Given the description of an element on the screen output the (x, y) to click on. 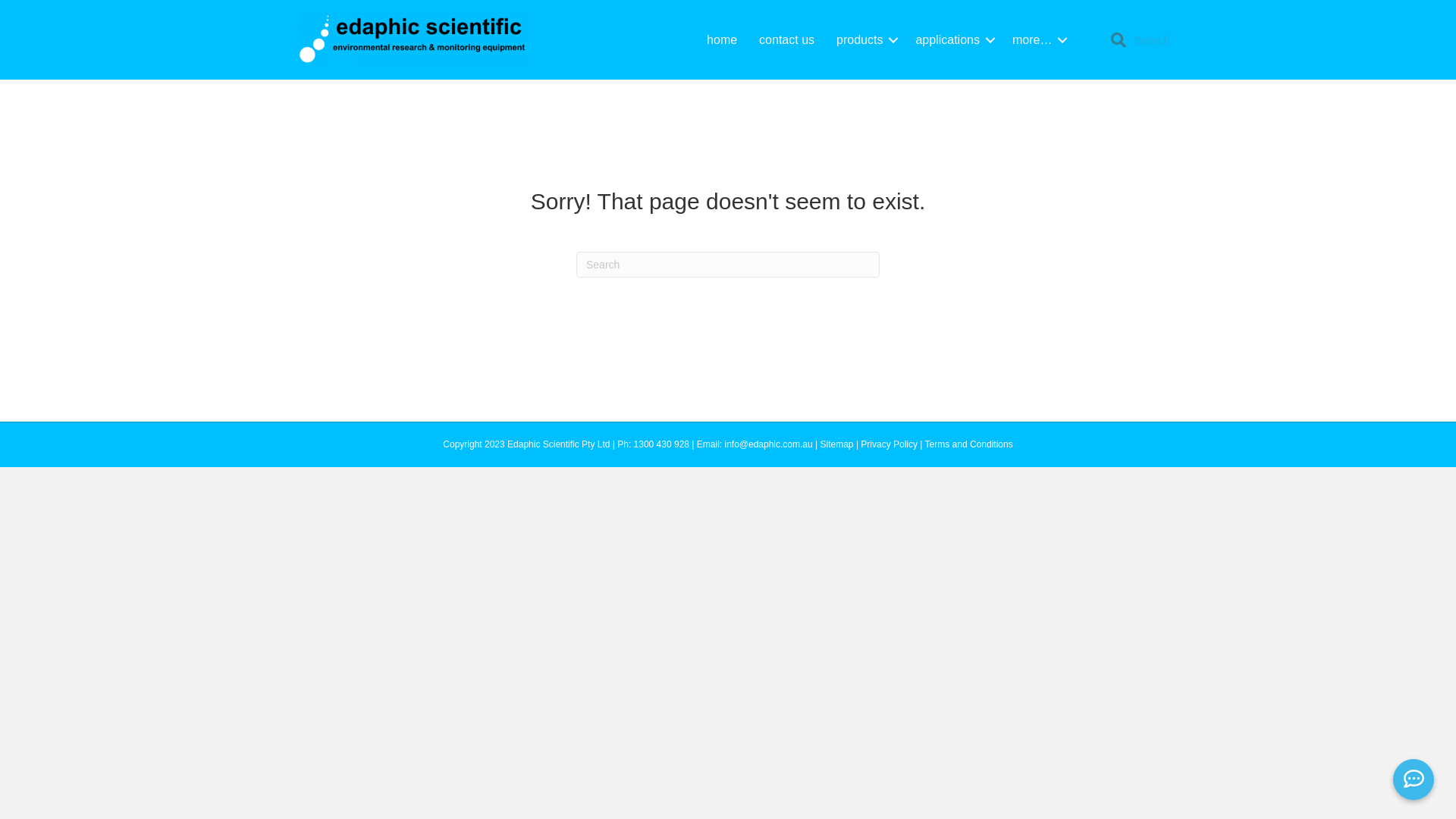
info@edaphic.com.au Element type: text (768, 444)
home Element type: text (721, 39)
Terms and Conditions Element type: text (969, 444)
contact us Element type: text (786, 39)
PageLines-NewSkyBlueLogoMobile.png Element type: hover (411, 39)
products Element type: text (864, 39)
Sitemap Element type: text (836, 444)
Type and press Enter to search. Element type: hover (727, 264)
Search Element type: hover (1156, 39)
applications Element type: text (952, 39)
1300 430 928 Element type: text (661, 444)
Privacy Policy Element type: text (888, 444)
